Given the description of an element on the screen output the (x, y) to click on. 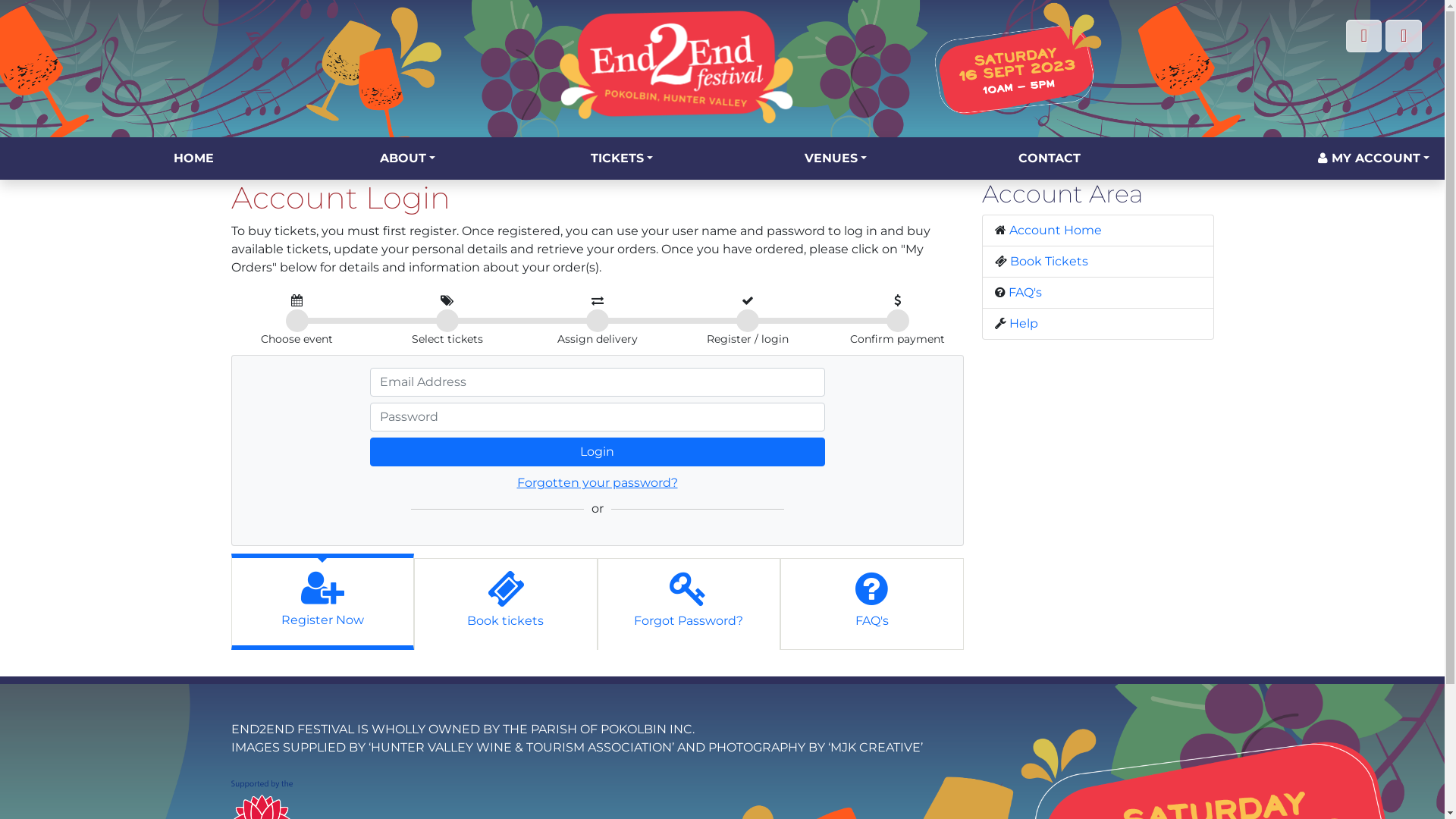
Book tickets Element type: text (505, 601)
FAQ's Element type: text (1024, 292)
Register Now Element type: text (322, 601)
Forgotten your password? Element type: text (597, 482)
ABOUT Element type: text (407, 158)
HOME Element type: text (193, 158)
TICKETS Element type: text (621, 158)
Help Element type: text (1022, 323)
Like us Element type: text (1364, 35)
Book Tickets Element type: text (1049, 261)
Account Home Element type: text (1054, 229)
Follow us Element type: text (1403, 35)
Forgot Password? Element type: text (688, 601)
Login Element type: text (597, 451)
VENUES Element type: text (835, 158)
FAQ's Element type: text (871, 601)
CONTACT Element type: text (1049, 158)
MY ACCOUNT Element type: text (1373, 158)
